Given the description of an element on the screen output the (x, y) to click on. 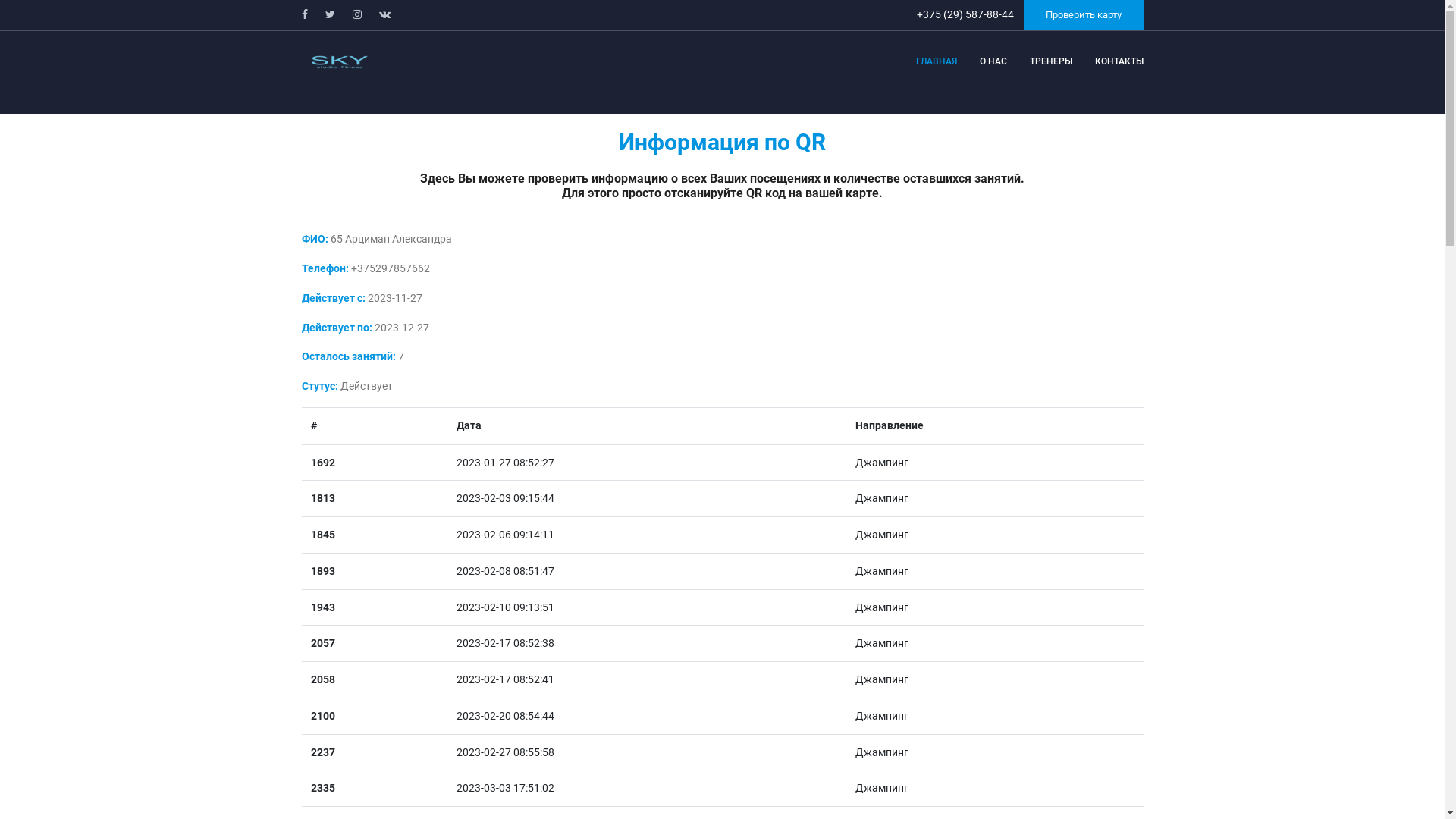
+375 (29) 587-88-44 Element type: text (965, 14)
